Given the description of an element on the screen output the (x, y) to click on. 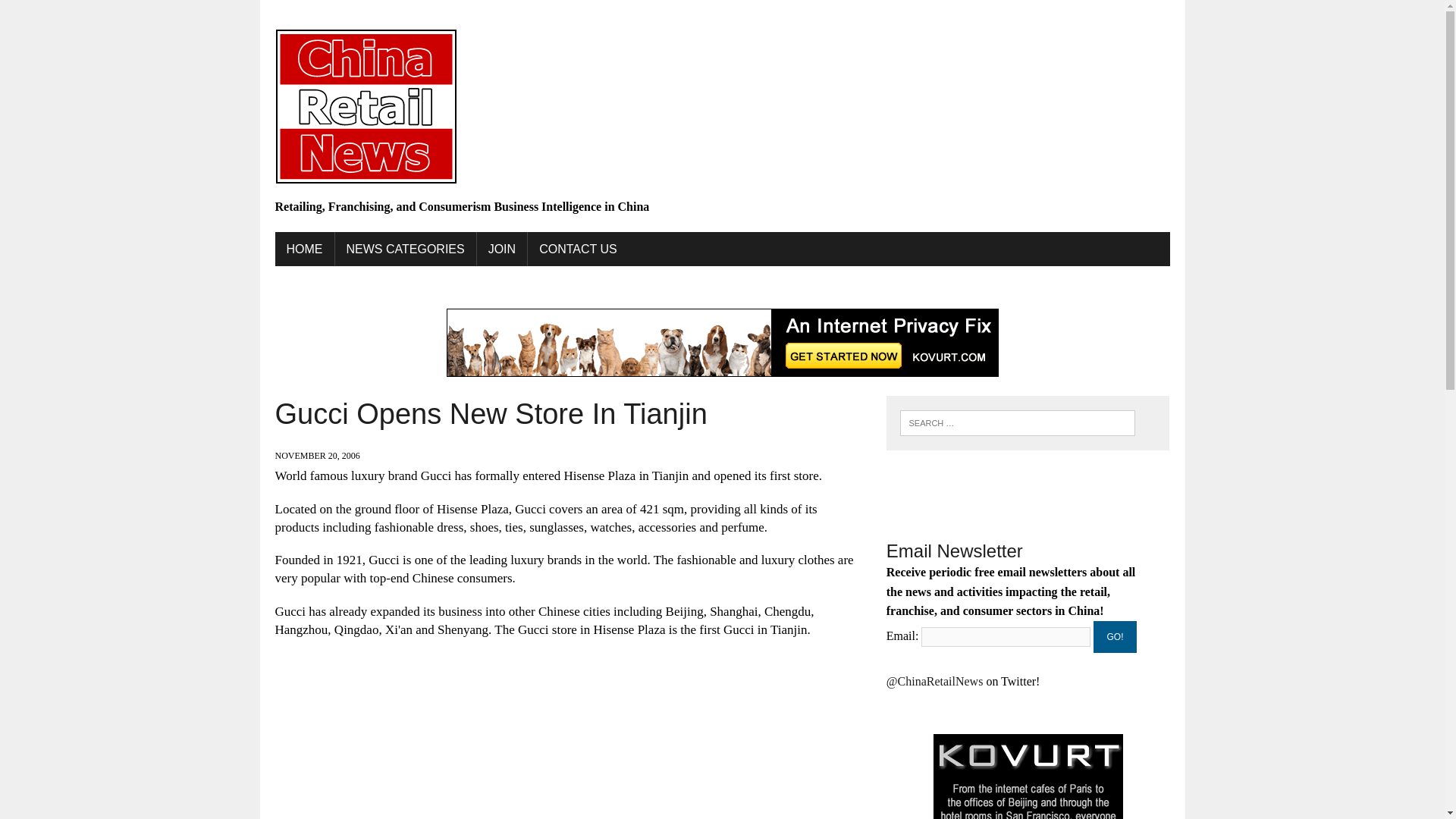
 GO!  (1115, 636)
Advertisement (569, 736)
Search (75, 14)
 GO!  (1115, 636)
Join (502, 248)
CONTACT US (577, 248)
Contact Us (577, 248)
JOIN (502, 248)
NEWS CATEGORIES (405, 248)
HOME (304, 248)
